Given the description of an element on the screen output the (x, y) to click on. 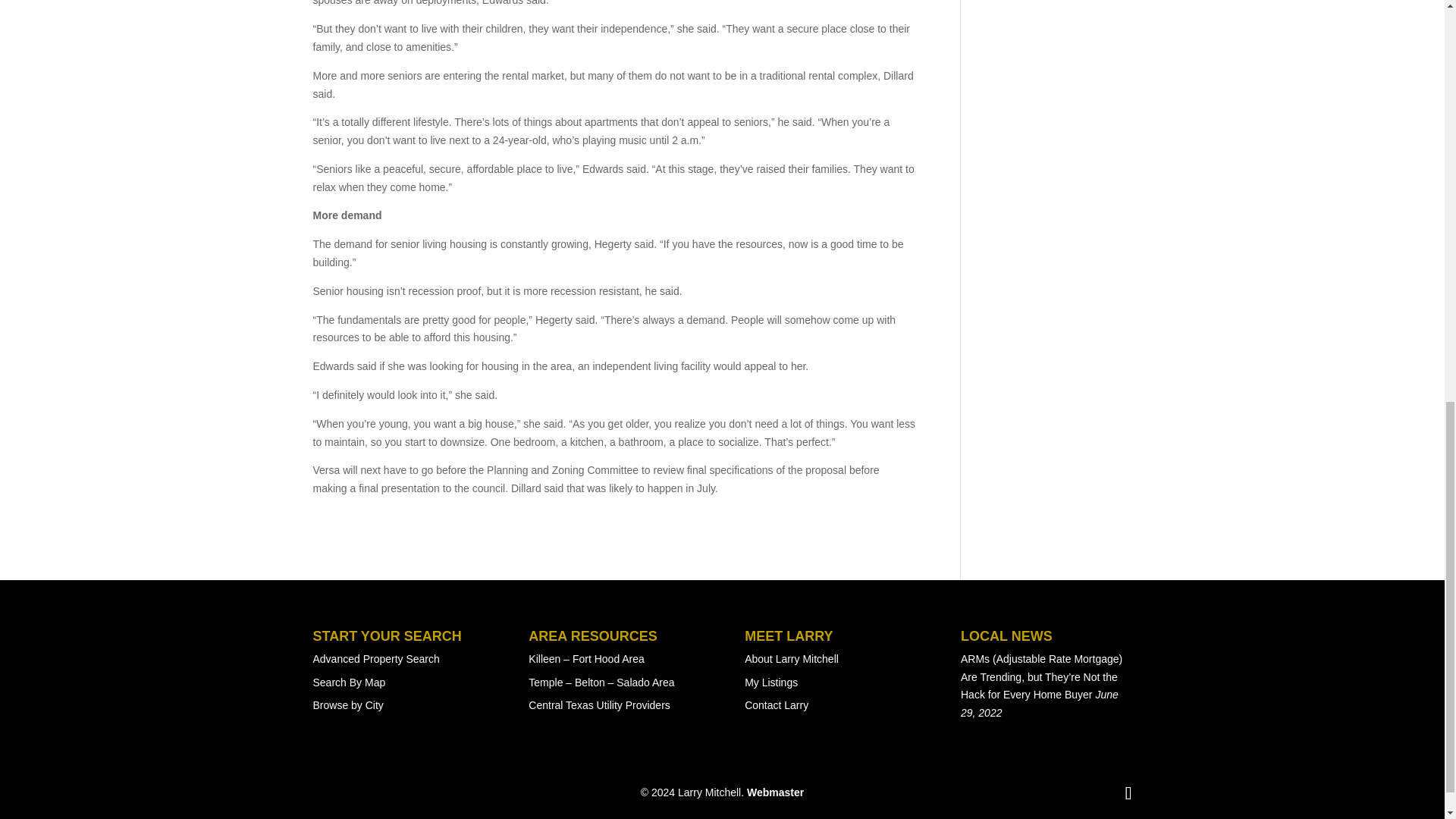
Browse by City (347, 705)
My Listings (770, 682)
Search By Map (349, 682)
Advanced Property Search (376, 658)
Contact Larry (776, 705)
Webmaster (774, 792)
About Larry Mitchell (791, 658)
Central Texas Utility Providers (598, 705)
